Given the description of an element on the screen output the (x, y) to click on. 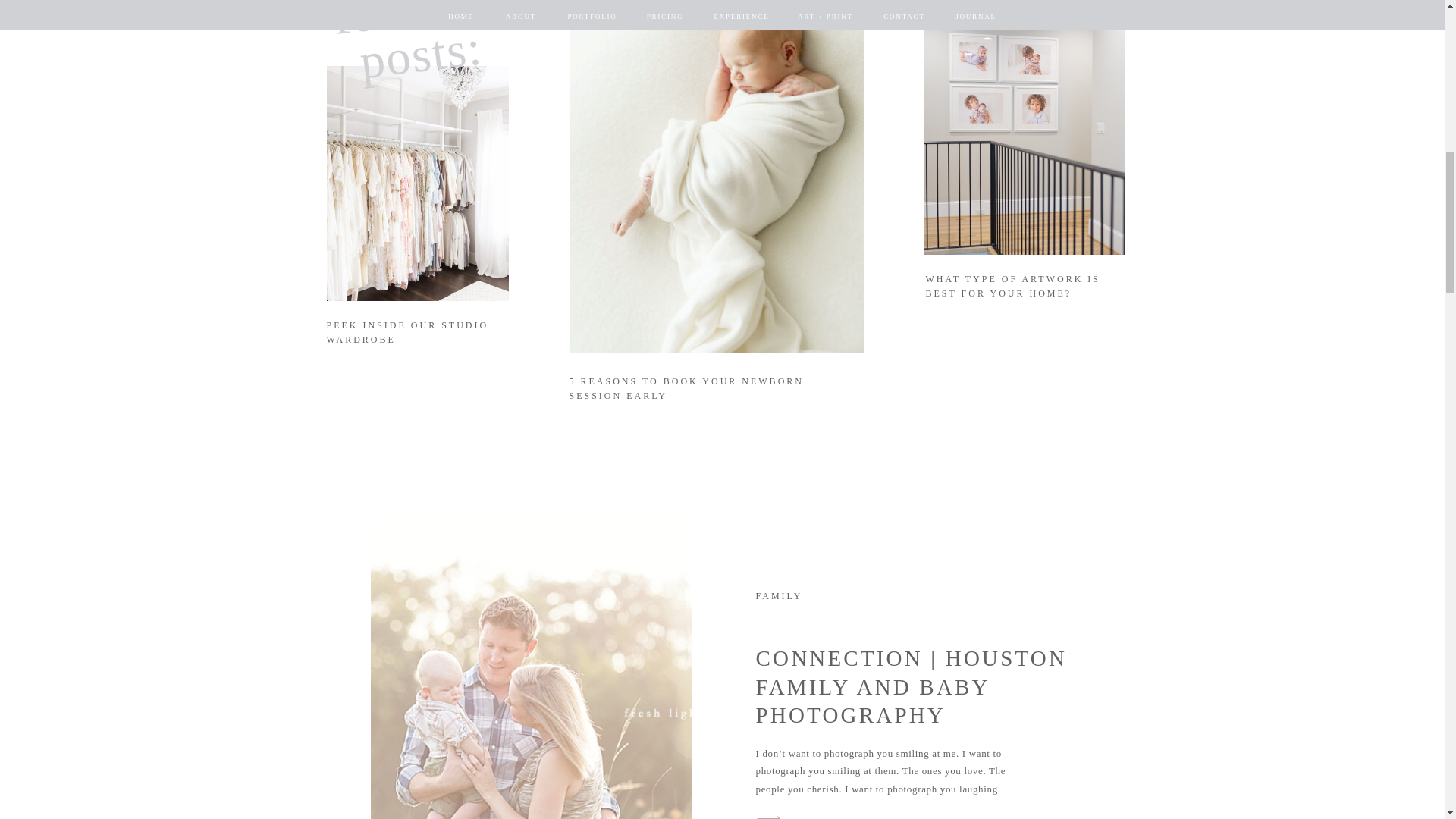
arrow (768, 813)
arrow (1104, 352)
